Given the description of an element on the screen output the (x, y) to click on. 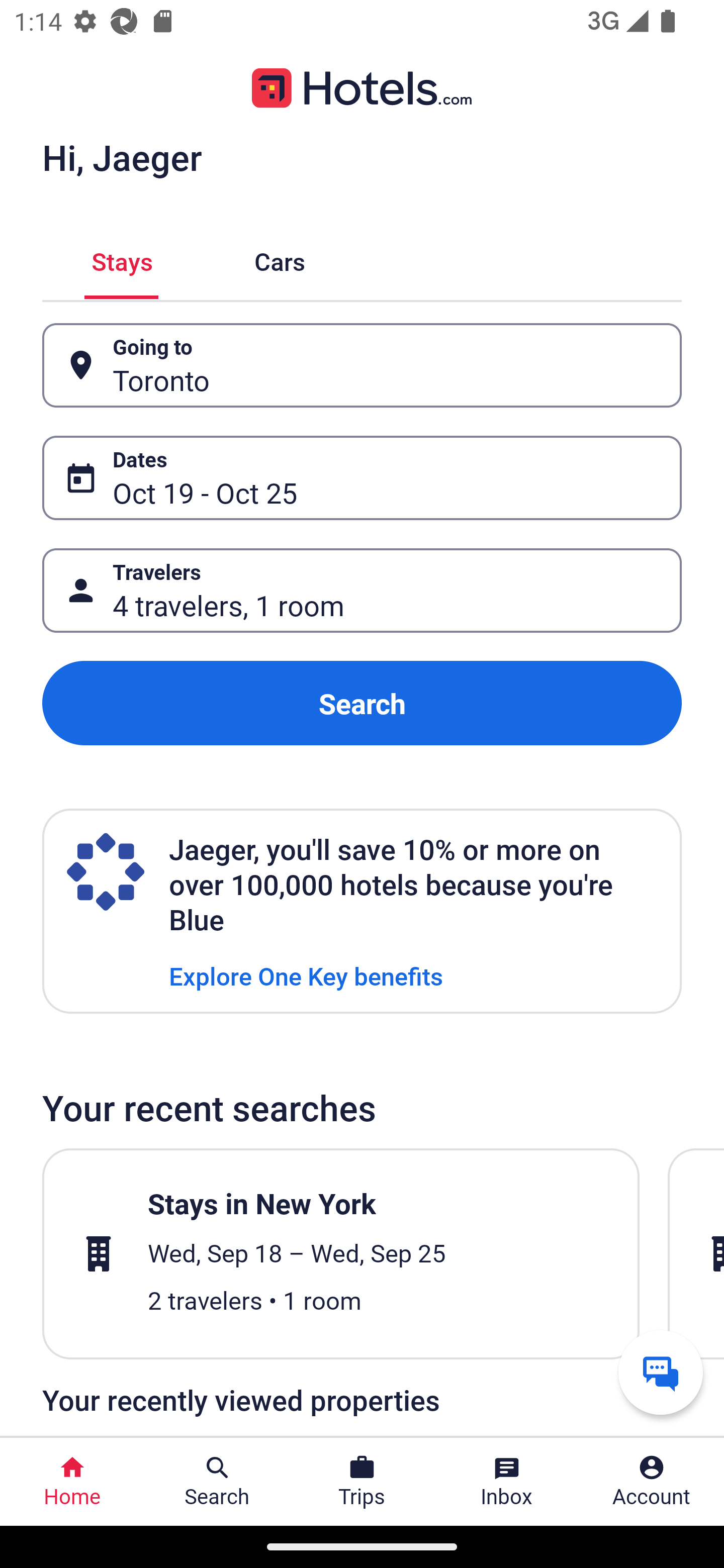
Hi, Jaeger (121, 156)
Cars (279, 259)
Going to Button Toronto (361, 365)
Dates Button Oct 19 - Oct 25 (361, 477)
Travelers Button 4 travelers, 1 room (361, 590)
Search (361, 702)
Get help from a virtual agent (660, 1371)
Search Search Button (216, 1481)
Trips Trips Button (361, 1481)
Inbox Inbox Button (506, 1481)
Account Profile. Button (651, 1481)
